Given the description of an element on the screen output the (x, y) to click on. 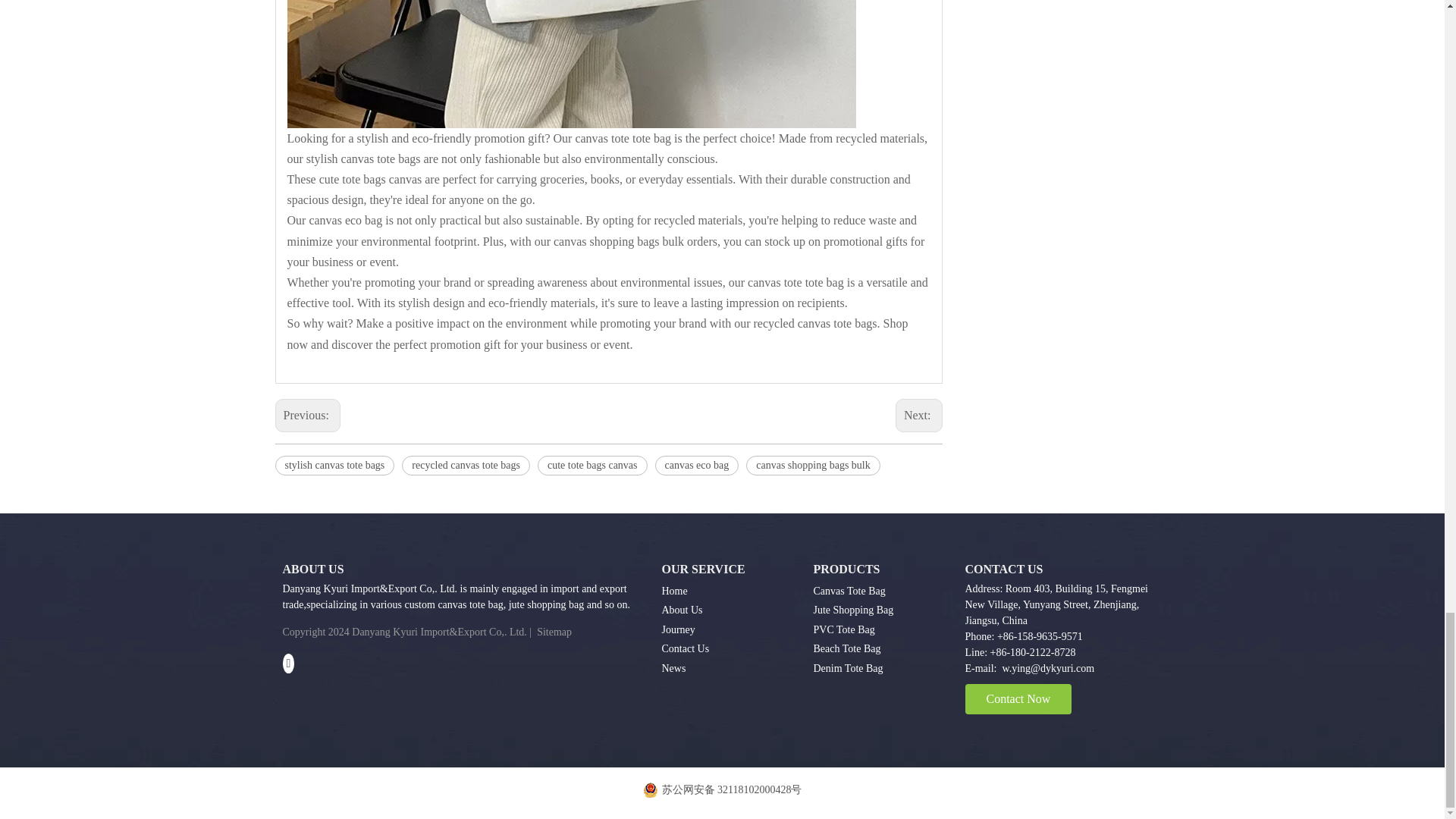
Contact Us (685, 648)
canvas eco bag (697, 465)
Canvas Tote Bag (848, 591)
canvas shopping bags bulk (812, 465)
stylish canvas tote bags (334, 465)
News (673, 668)
Jute Shopping Bag (852, 609)
About Us (681, 609)
cute tote bags canvas (592, 465)
recycled canvas tote bags (465, 465)
